Given the description of an element on the screen output the (x, y) to click on. 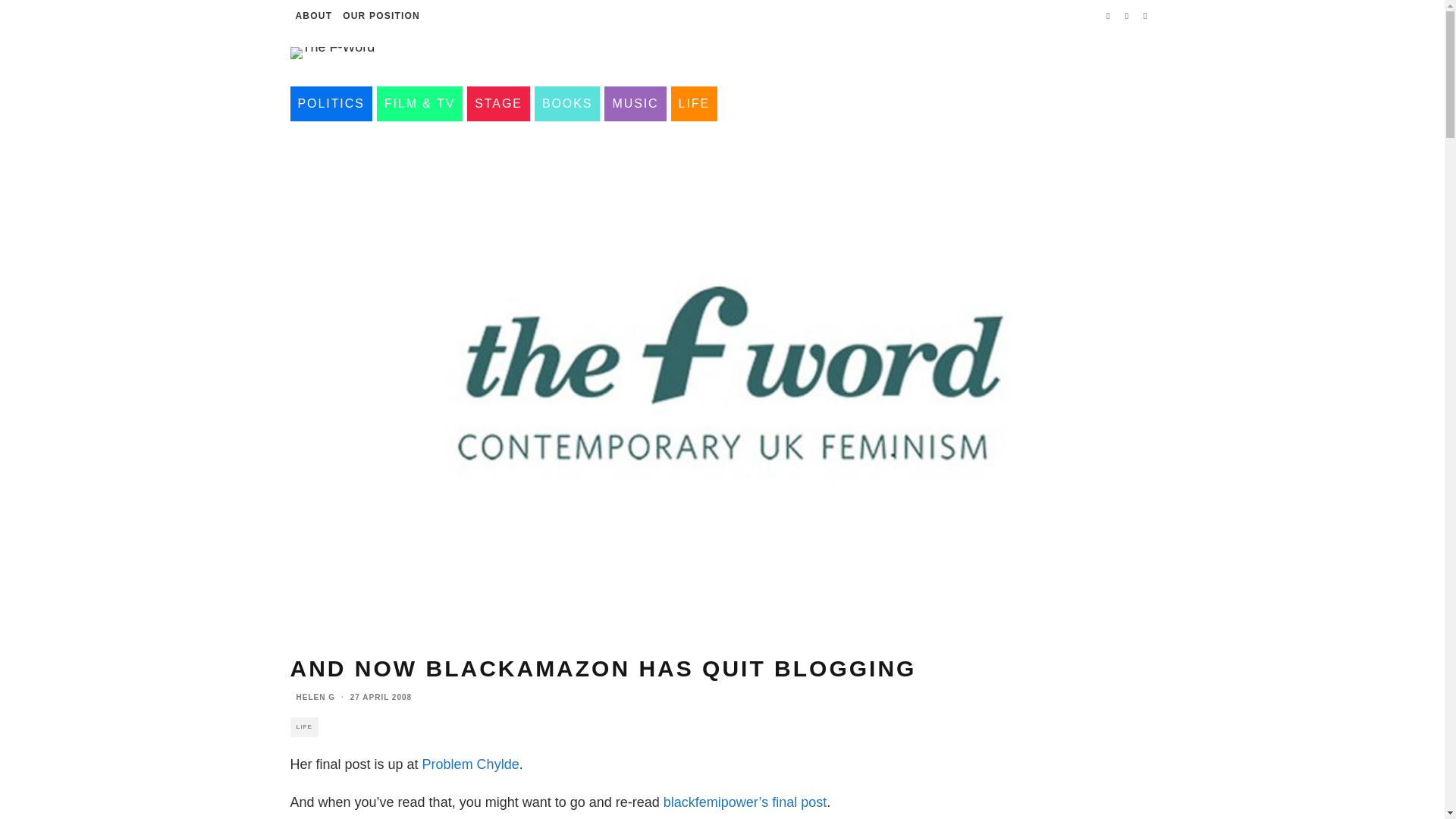
BOOKS (566, 103)
POLITICS (330, 103)
STAGE (498, 103)
OUR POSITION (381, 15)
ABOUT (313, 15)
